Given the description of an element on the screen output the (x, y) to click on. 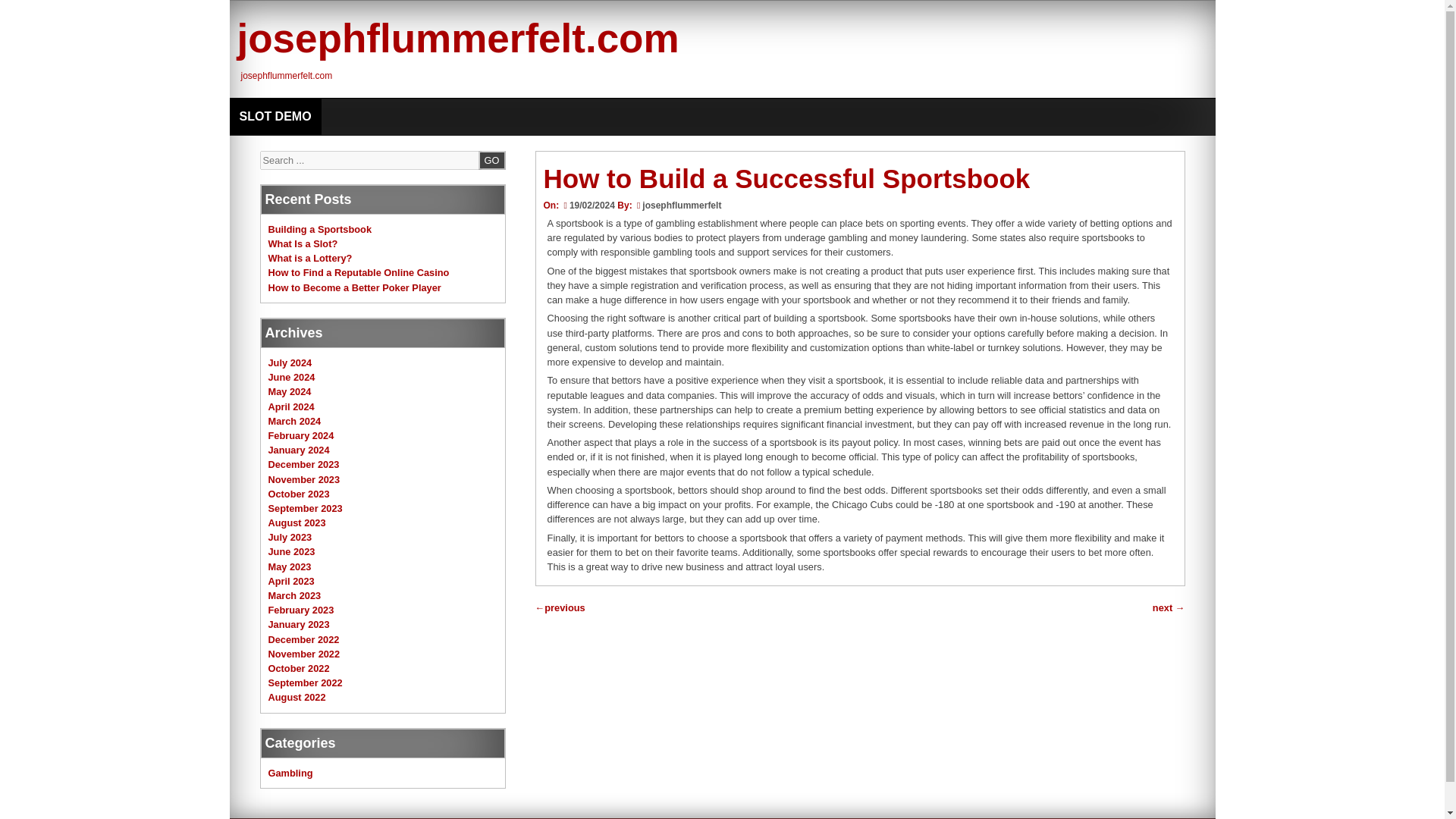
May 2023 (289, 566)
September 2023 (304, 508)
October 2022 (298, 668)
What is a Lottery? (309, 257)
November 2023 (303, 478)
josephflummerfelt (681, 204)
July 2024 (290, 362)
May 2024 (289, 391)
April 2023 (290, 581)
September 2022 (304, 682)
March 2023 (294, 595)
GO (492, 158)
How to Become a Better Poker Player (354, 287)
SLOT DEMO (274, 116)
GO (492, 158)
